Given the description of an element on the screen output the (x, y) to click on. 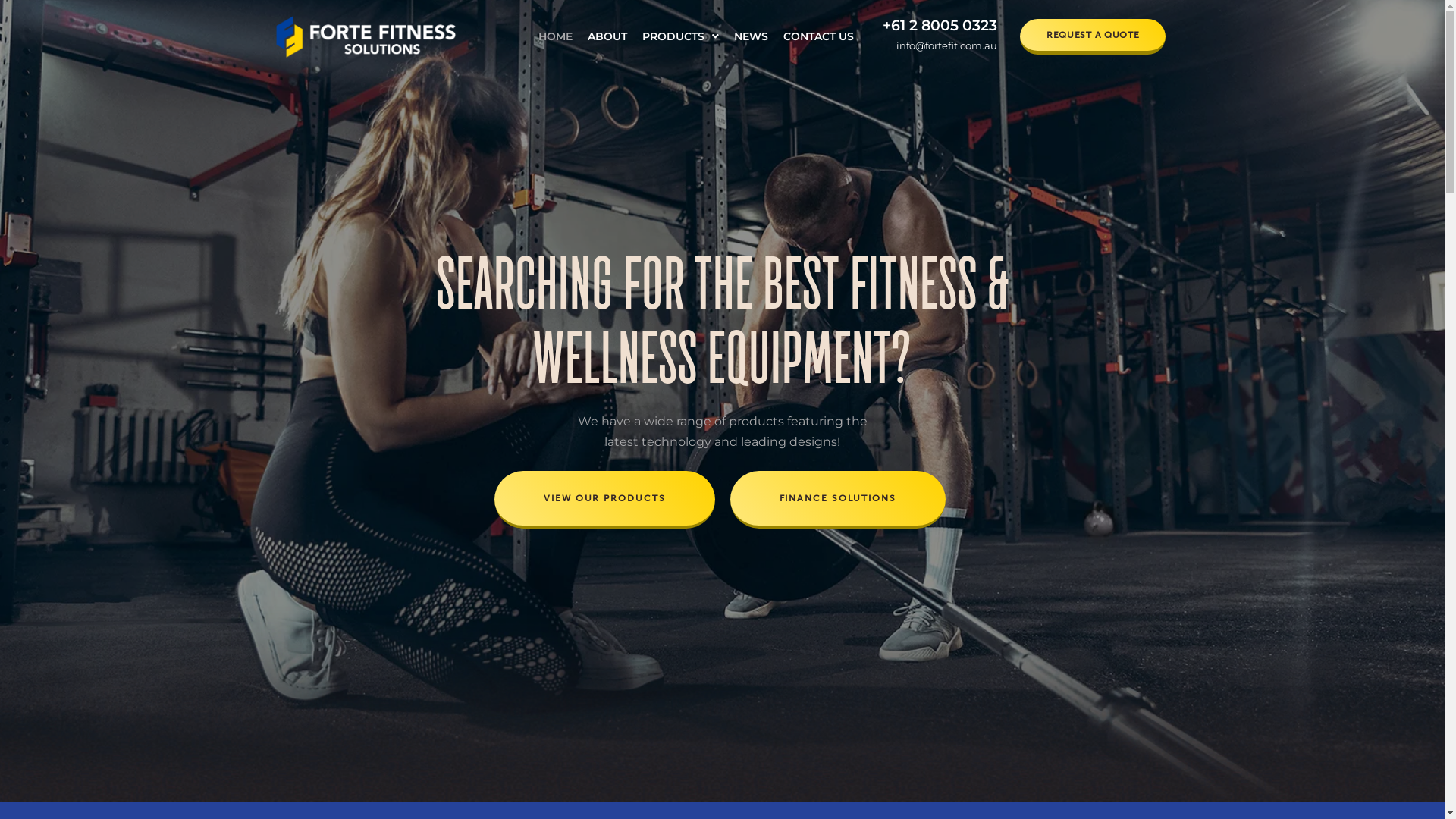
CONTACT US Element type: text (818, 36)
FINANCE SOLUTIONS Element type: text (836, 499)
HOME Element type: text (558, 36)
NEWS Element type: text (750, 36)
+61 2 8005 0323 Element type: text (939, 25)
info@fortefit.com.au Element type: text (946, 45)
REQUEST A QUOTE Element type: text (1092, 36)
PRODUCTS Element type: text (681, 36)
VIEW OUR PRODUCTS Element type: text (604, 499)
ABOUT Element type: text (610, 36)
